Given the description of an element on the screen output the (x, y) to click on. 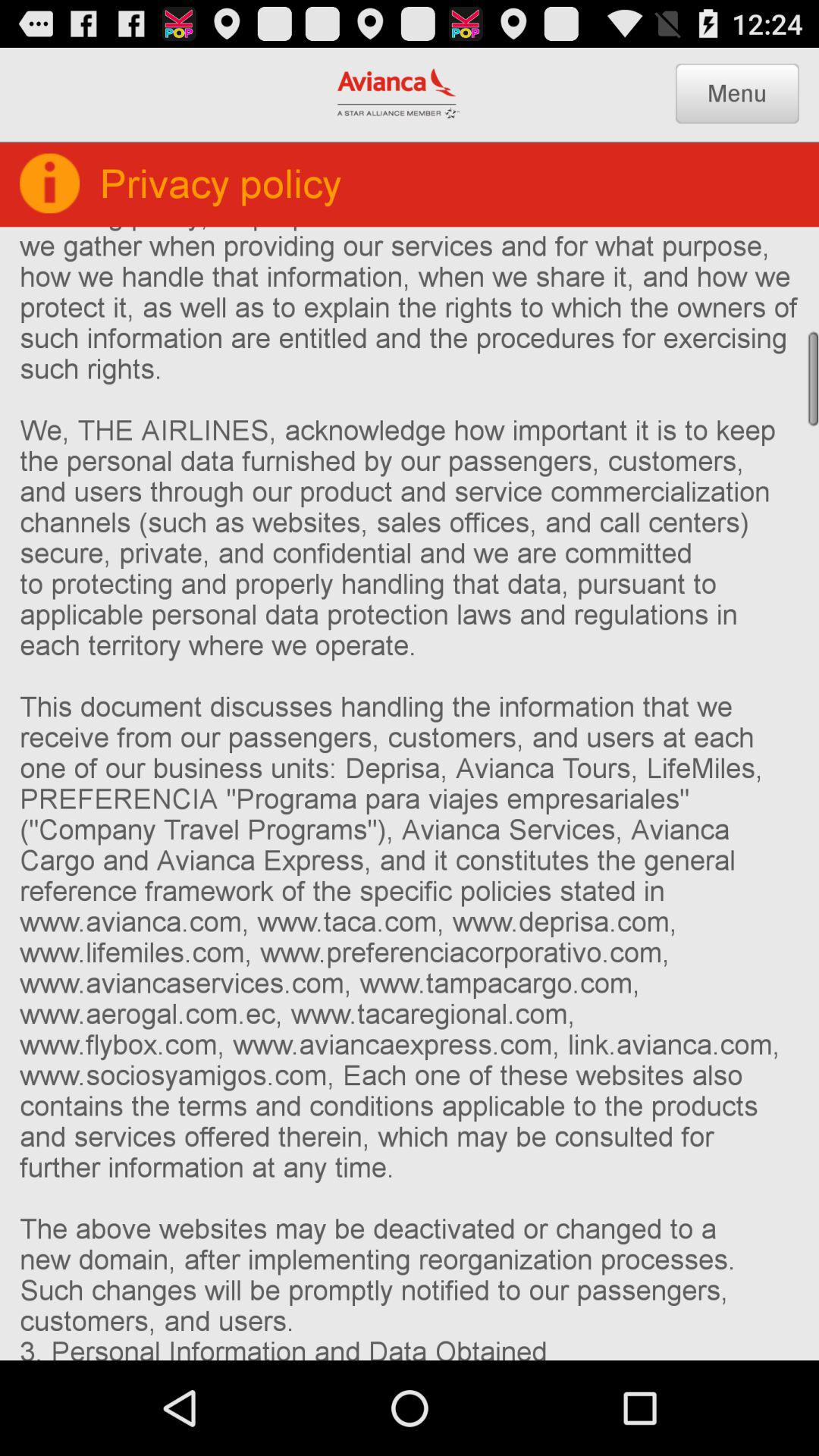
press the menu icon (737, 93)
